Given the description of an element on the screen output the (x, y) to click on. 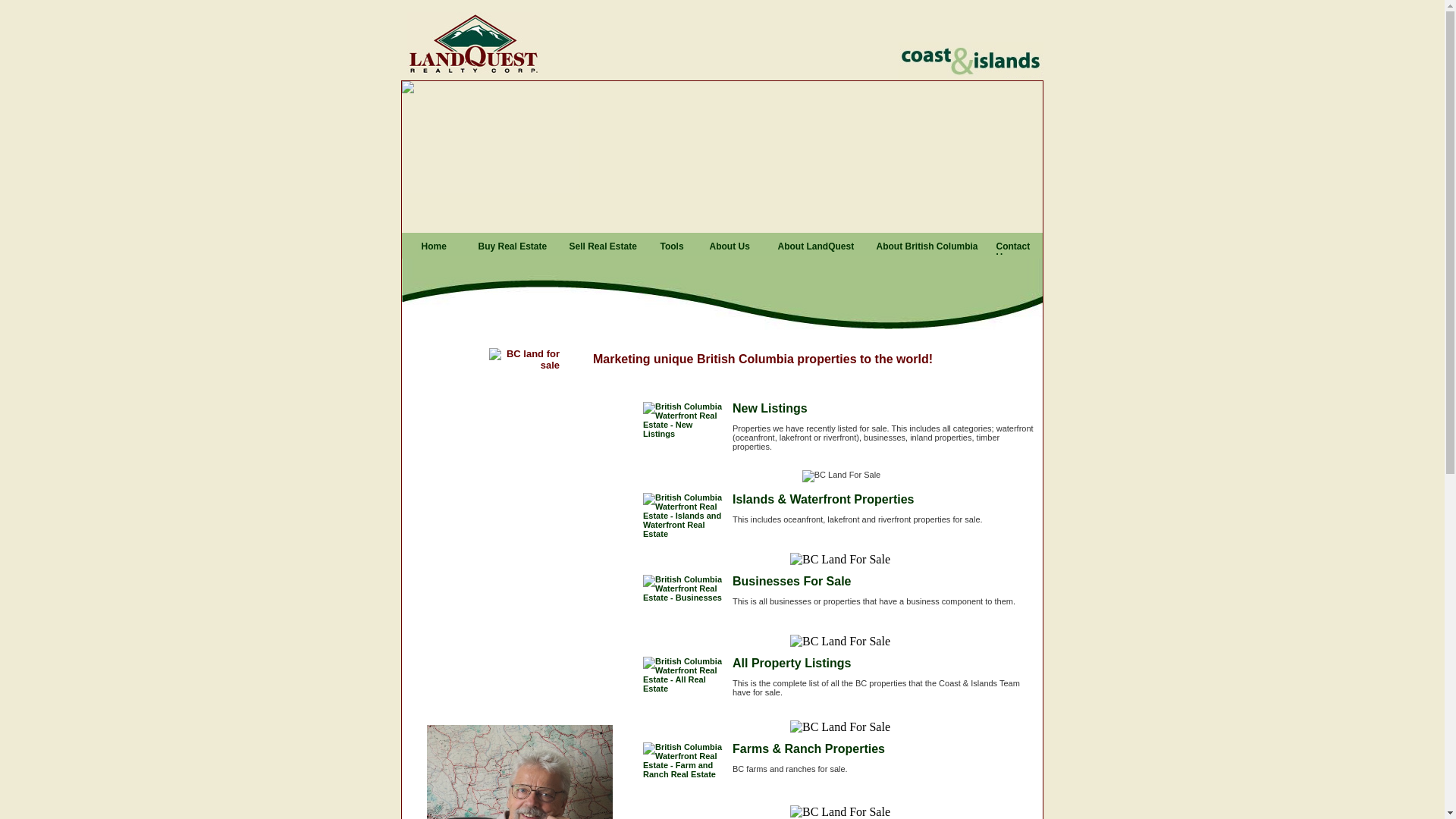
All Property Listings Element type: text (791, 662)
Businesses For Sale Element type: text (791, 580)
Islands & Waterfront Properties Element type: text (822, 498)
New Listings Element type: text (769, 407)
Farms & Ranch Properties Element type: text (808, 748)
